Given the description of an element on the screen output the (x, y) to click on. 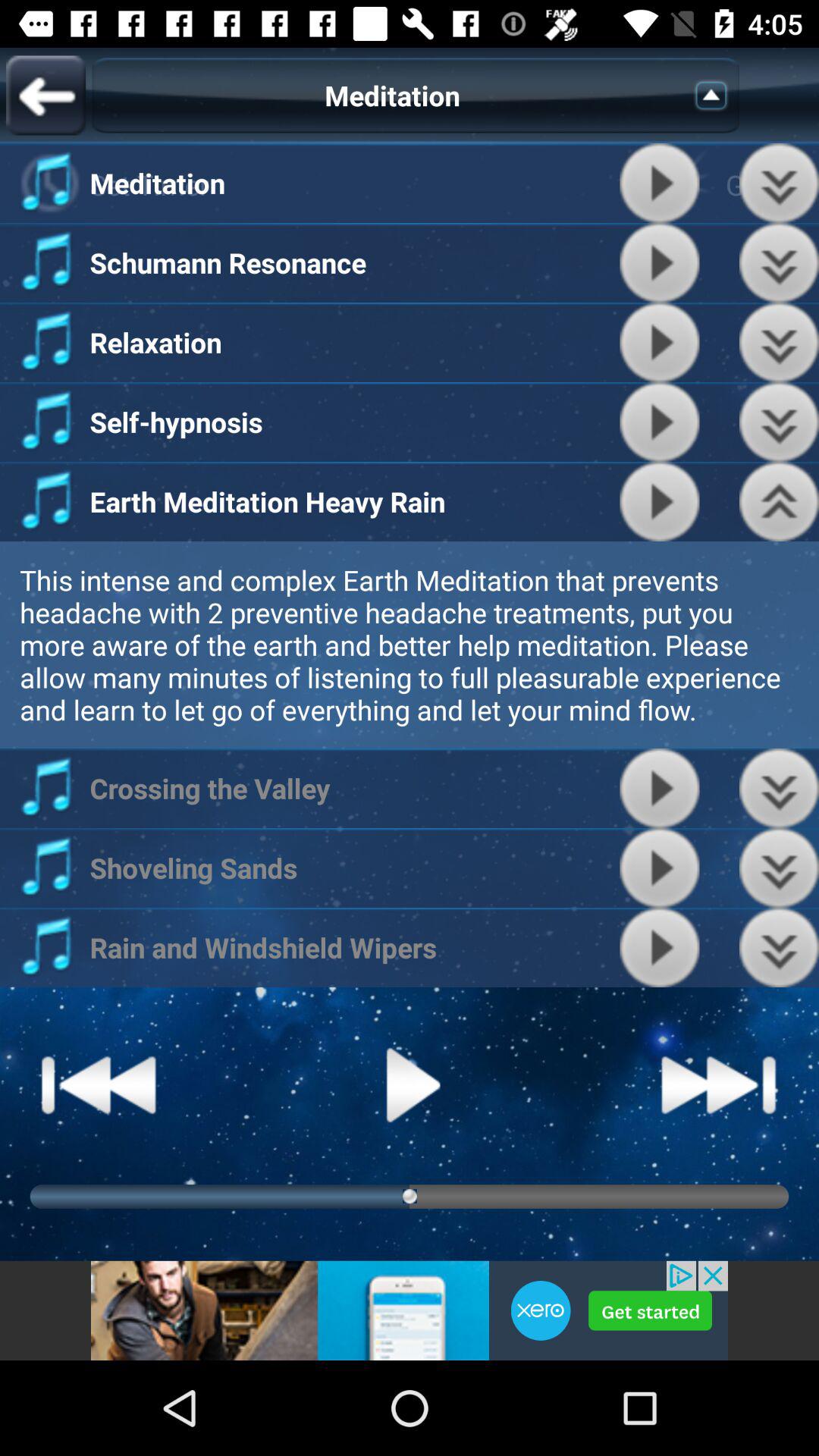
play next (719, 1084)
